Given the description of an element on the screen output the (x, y) to click on. 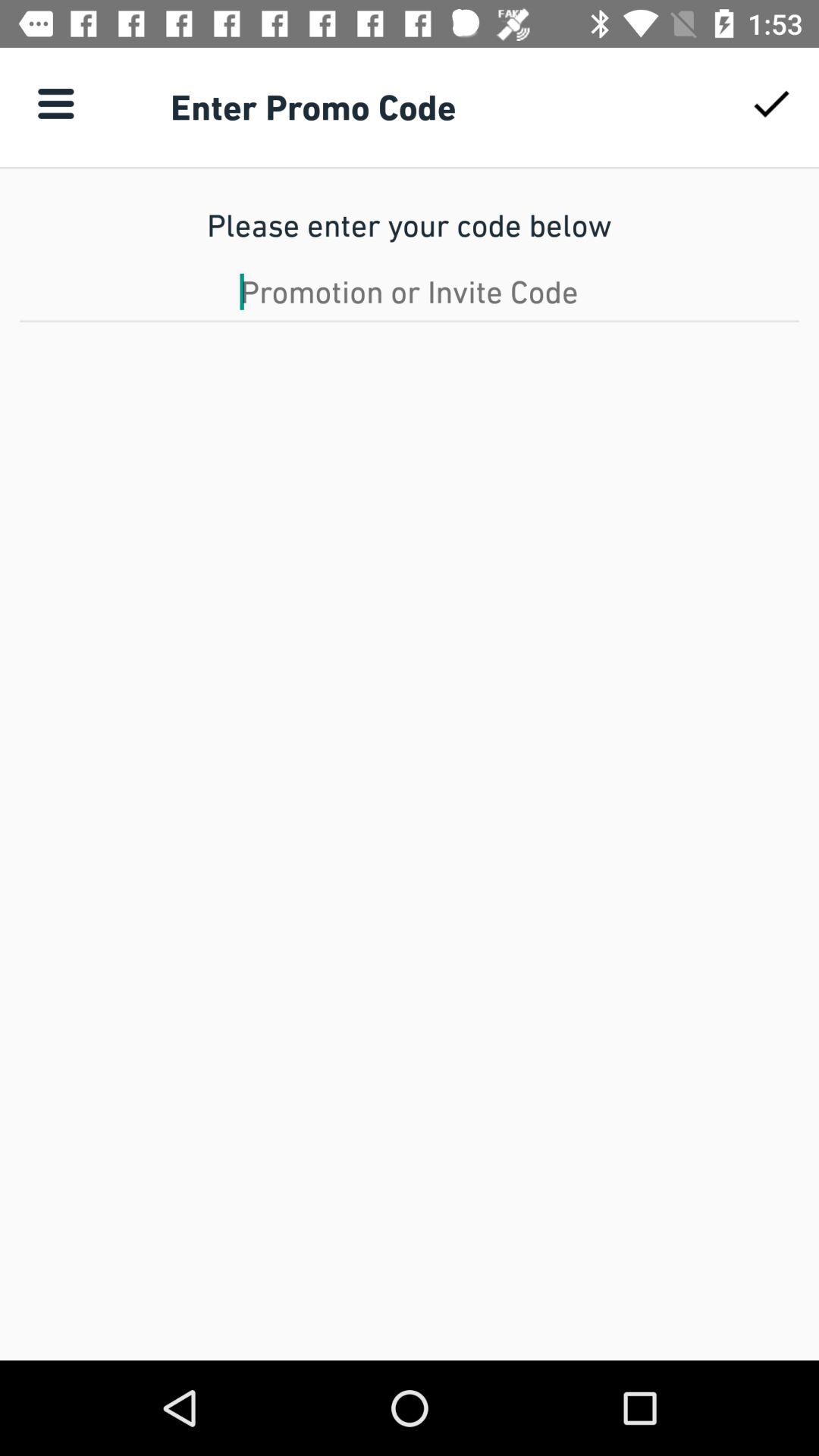
turn on icon above the please enter your item (771, 103)
